Given the description of an element on the screen output the (x, y) to click on. 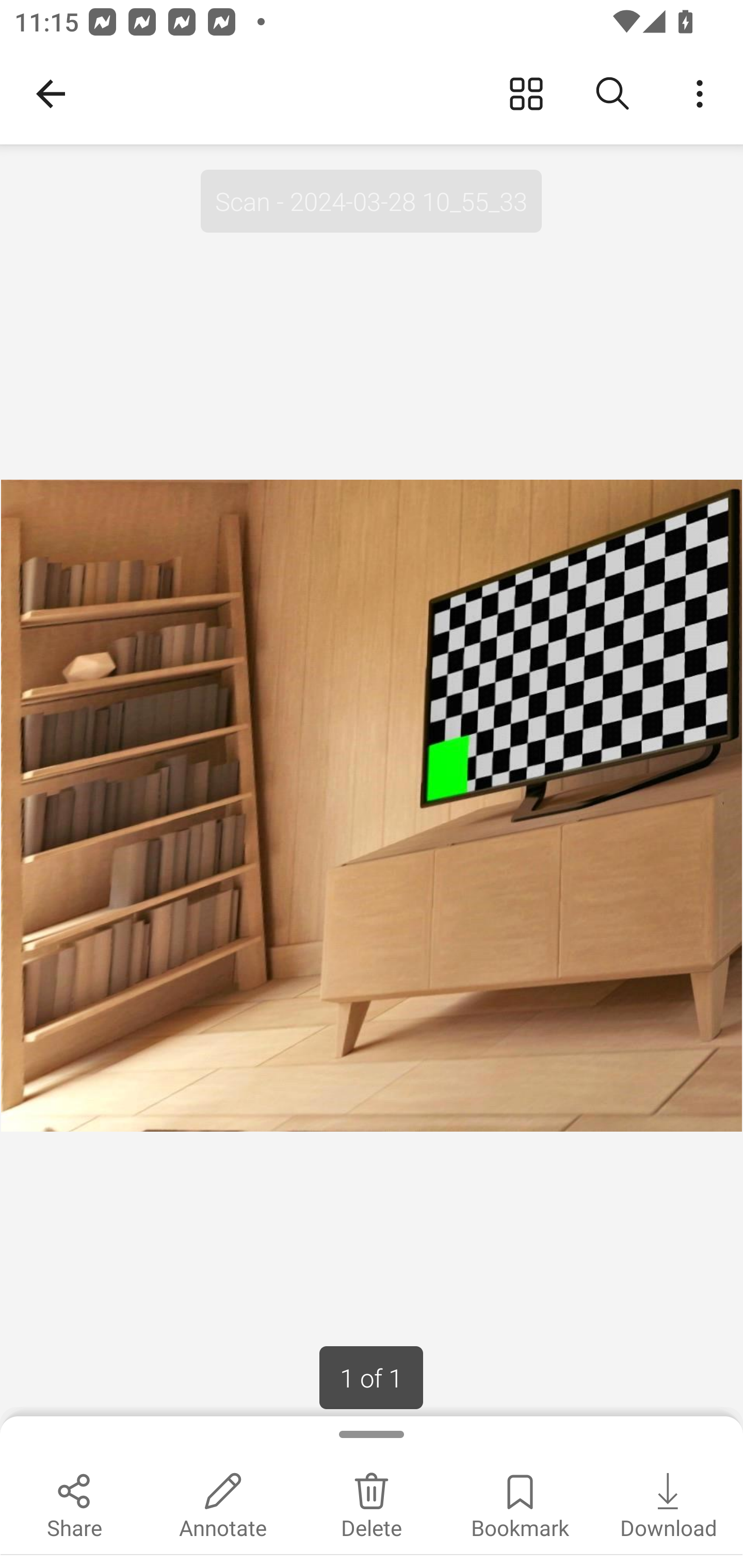
Navigate up (50, 93)
button (525, 93)
button (612, 93)
button (699, 93)
 1 of 1  Page 1 of 1 (370, 1377)
Share (74, 1502)
Annotate (222, 1502)
Delete (371, 1502)
Bookmark, unselected Bookmark (519, 1502)
Download (668, 1502)
